Given the description of an element on the screen output the (x, y) to click on. 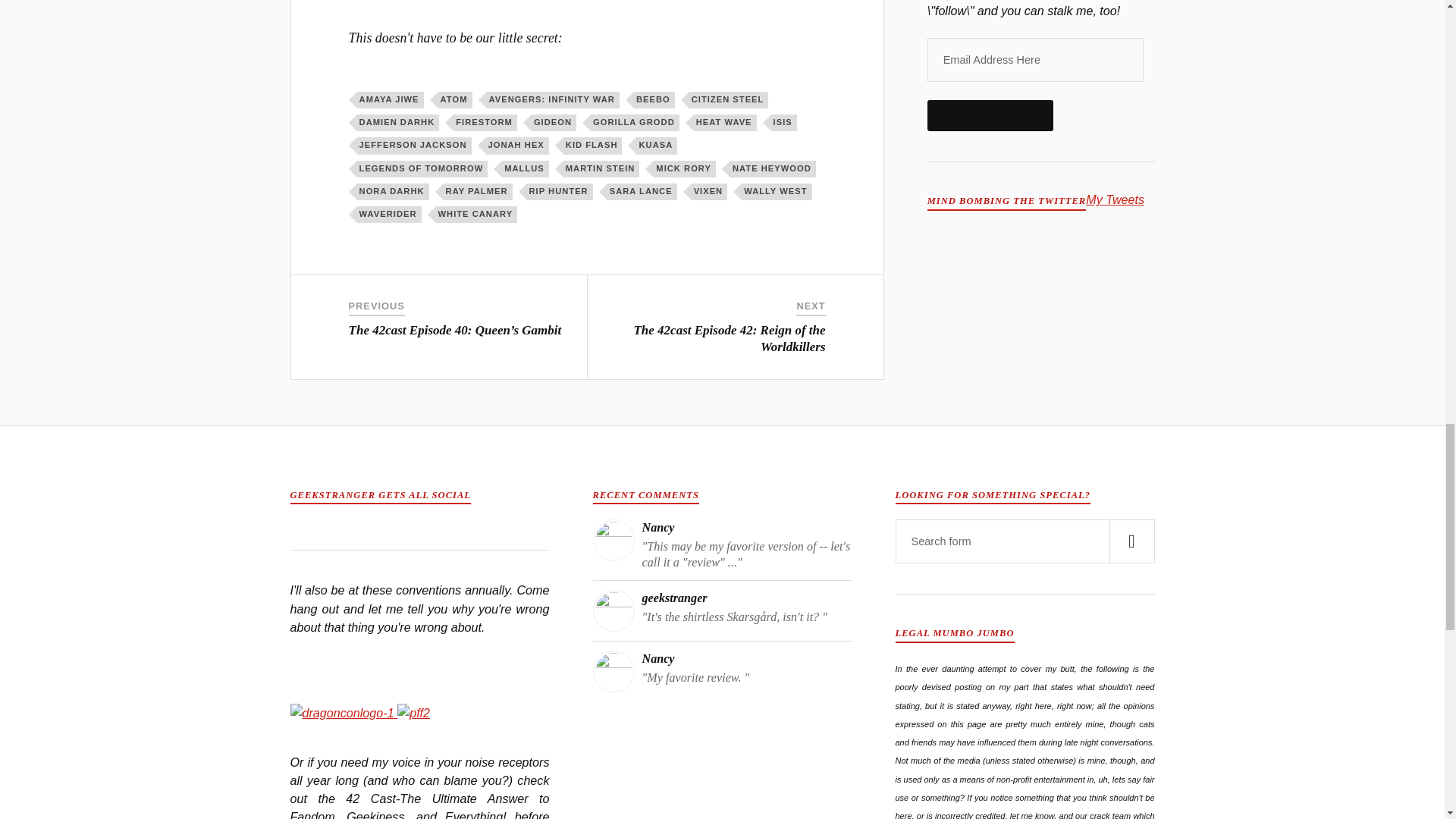
AVENGERS: INFINITY WAR (553, 99)
BEEBO (654, 99)
GORILLA GRODD (635, 122)
DAMIEN DARHK (397, 122)
CITIZEN STEEL (728, 99)
FIRESTORM (484, 122)
GIDEON (553, 122)
ATOM (454, 99)
AMAYA JIWE (389, 99)
